Given the description of an element on the screen output the (x, y) to click on. 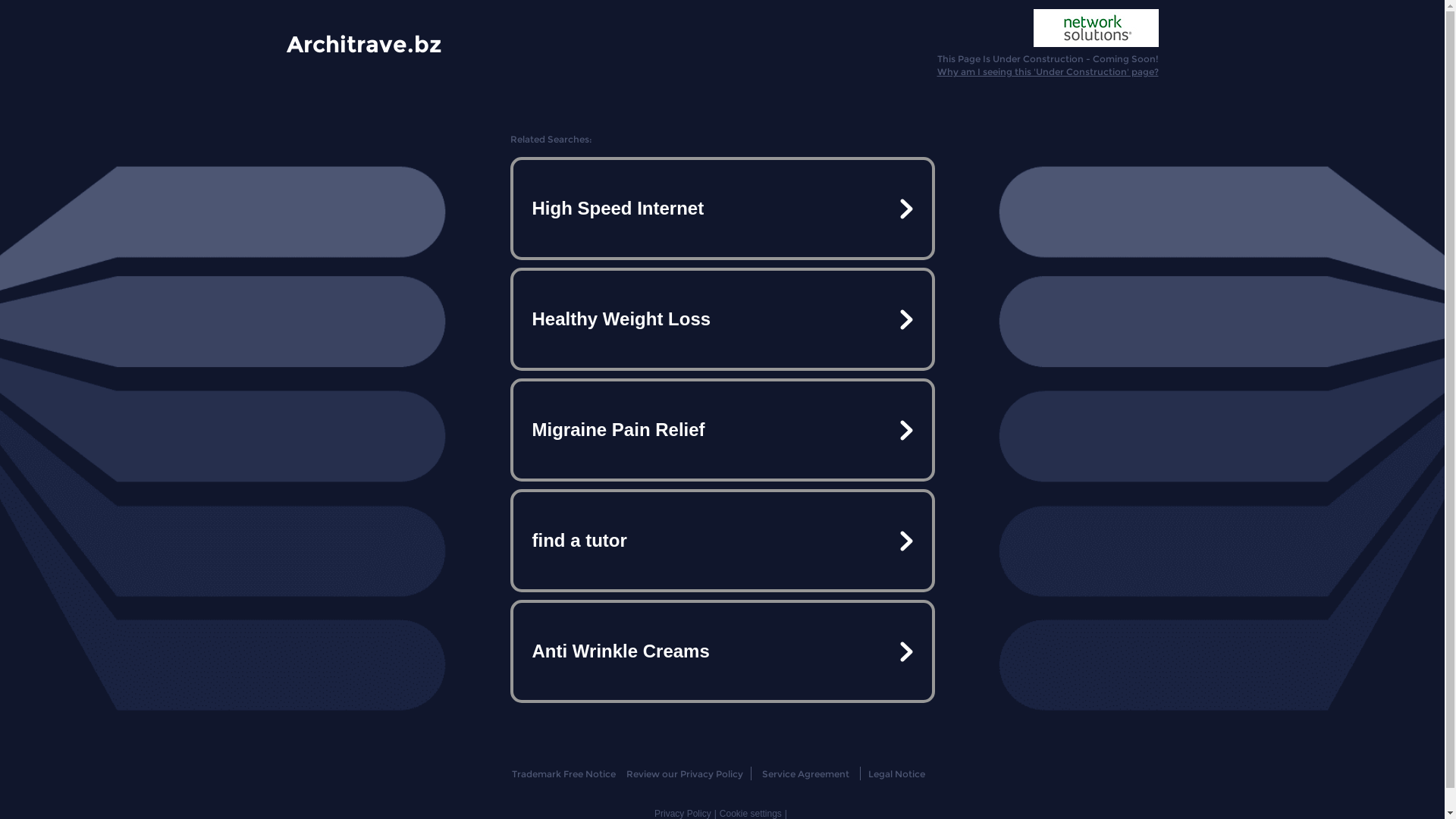
Migraine Pain Relief Element type: text (721, 429)
Healthy Weight Loss Element type: text (721, 318)
find a tutor Element type: text (721, 540)
Service Agreement Element type: text (805, 773)
Why am I seeing this 'Under Construction' page? Element type: text (1047, 71)
Legal Notice Element type: text (896, 773)
Review our Privacy Policy Element type: text (684, 773)
Anti Wrinkle Creams Element type: text (721, 650)
Architrave.bz Element type: text (364, 43)
High Speed Internet Element type: text (721, 208)
Trademark Free Notice Element type: text (563, 773)
